Given the description of an element on the screen output the (x, y) to click on. 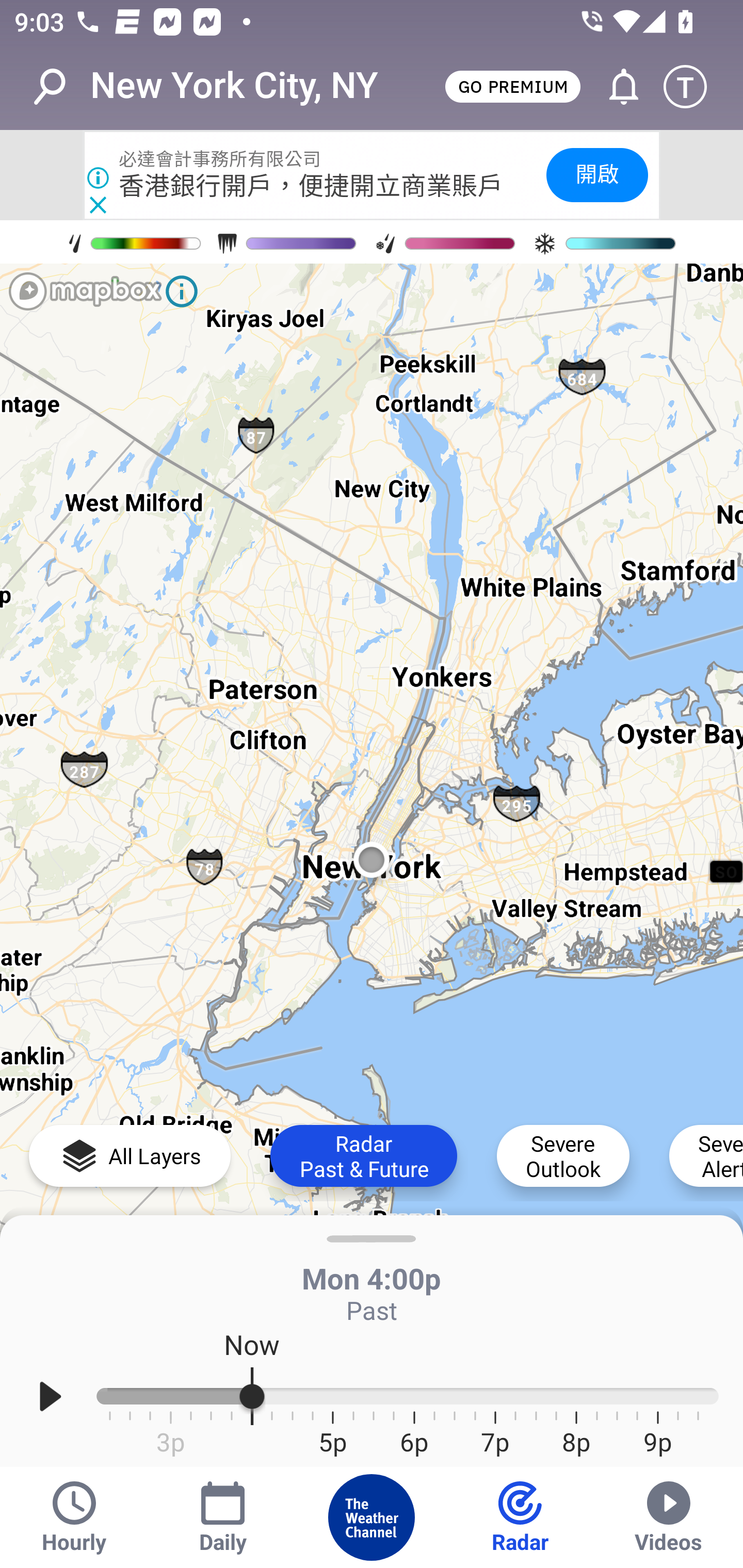
Search (59, 86)
Go to Alerts and Notifications (614, 86)
Setting icon T (694, 86)
New York City, NY (234, 85)
GO PREMIUM (512, 85)
必達會計事務所有限公司 (220, 158)
開啟 (596, 174)
香港銀行開戶，便捷開立商業賬戶 (311, 185)
All Layers (129, 1155)
Radar
Past & Future Radar Past & Future (363, 1155)
Severe
Outlook Severe Outlook (563, 1155)
Play (50, 1396)
Hourly Tab Hourly (74, 1517)
Daily Tab Daily (222, 1517)
Home Tab (371, 1517)
Videos Tab Videos (668, 1517)
